Given the description of an element on the screen output the (x, y) to click on. 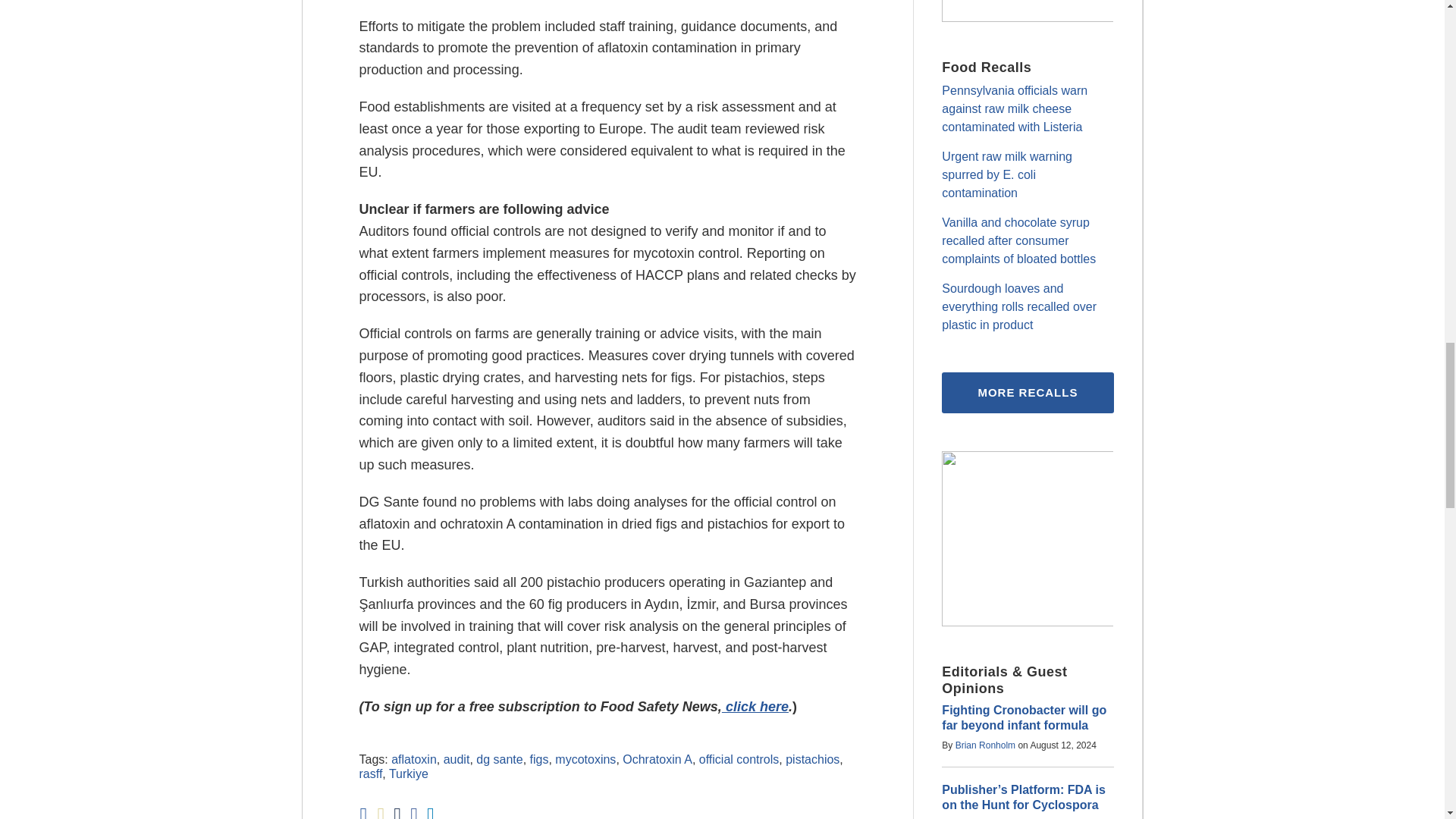
Turkiye (408, 773)
figs (538, 758)
mycotoxins (584, 758)
 click here (755, 706)
official controls (738, 758)
audit (457, 758)
Ochratoxin A (658, 758)
dg sante (499, 758)
aflatoxin (413, 758)
rasff (370, 773)
